Given the description of an element on the screen output the (x, y) to click on. 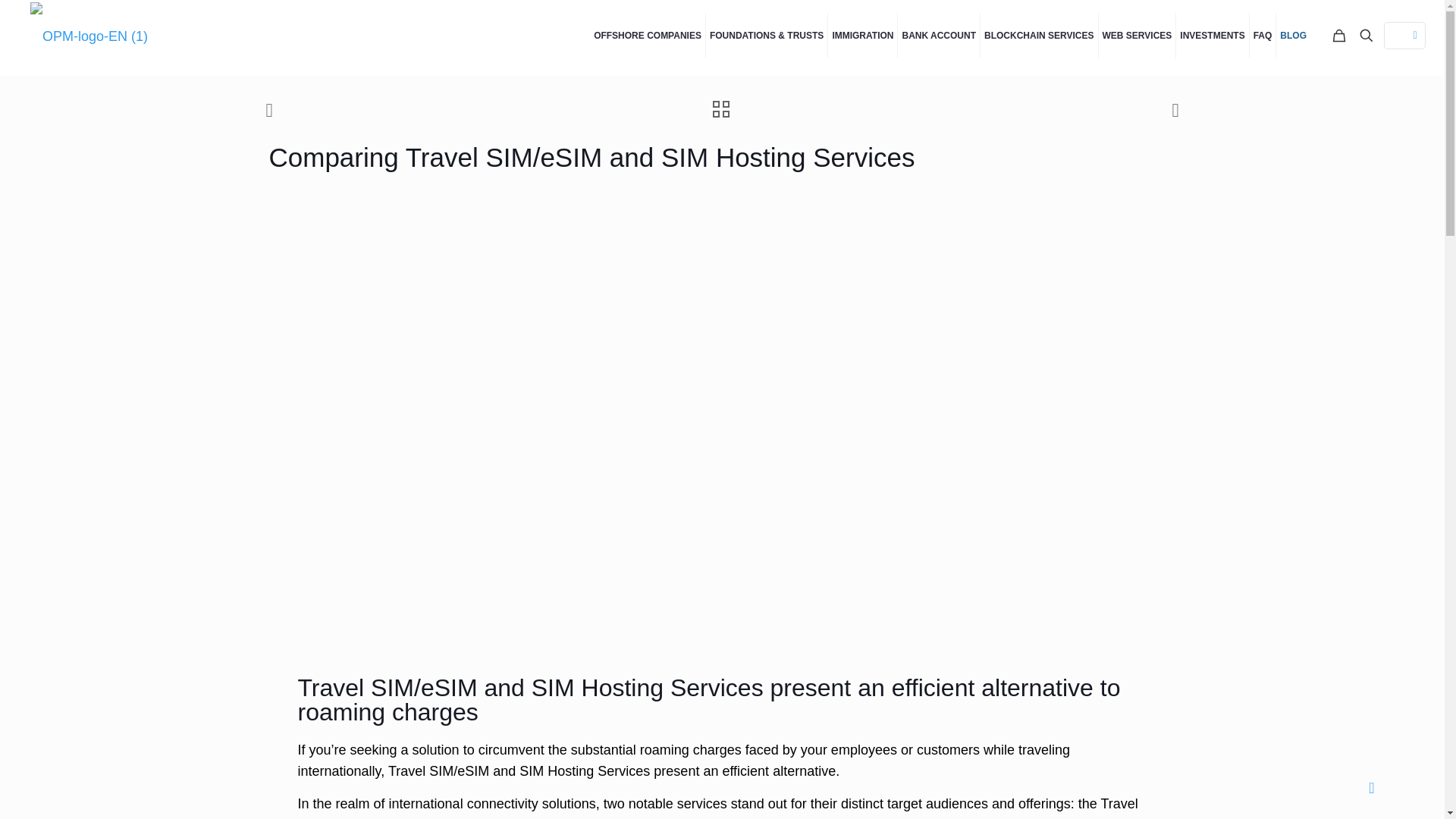
INVESTMENTS (1212, 35)
BLOCKCHAIN SERVICES (1038, 35)
IMMIGRATION (863, 35)
OFFSHORE COMPANIES (647, 35)
BANK ACCOUNT (938, 35)
WEB SERVICES (1136, 35)
